Given the description of an element on the screen output the (x, y) to click on. 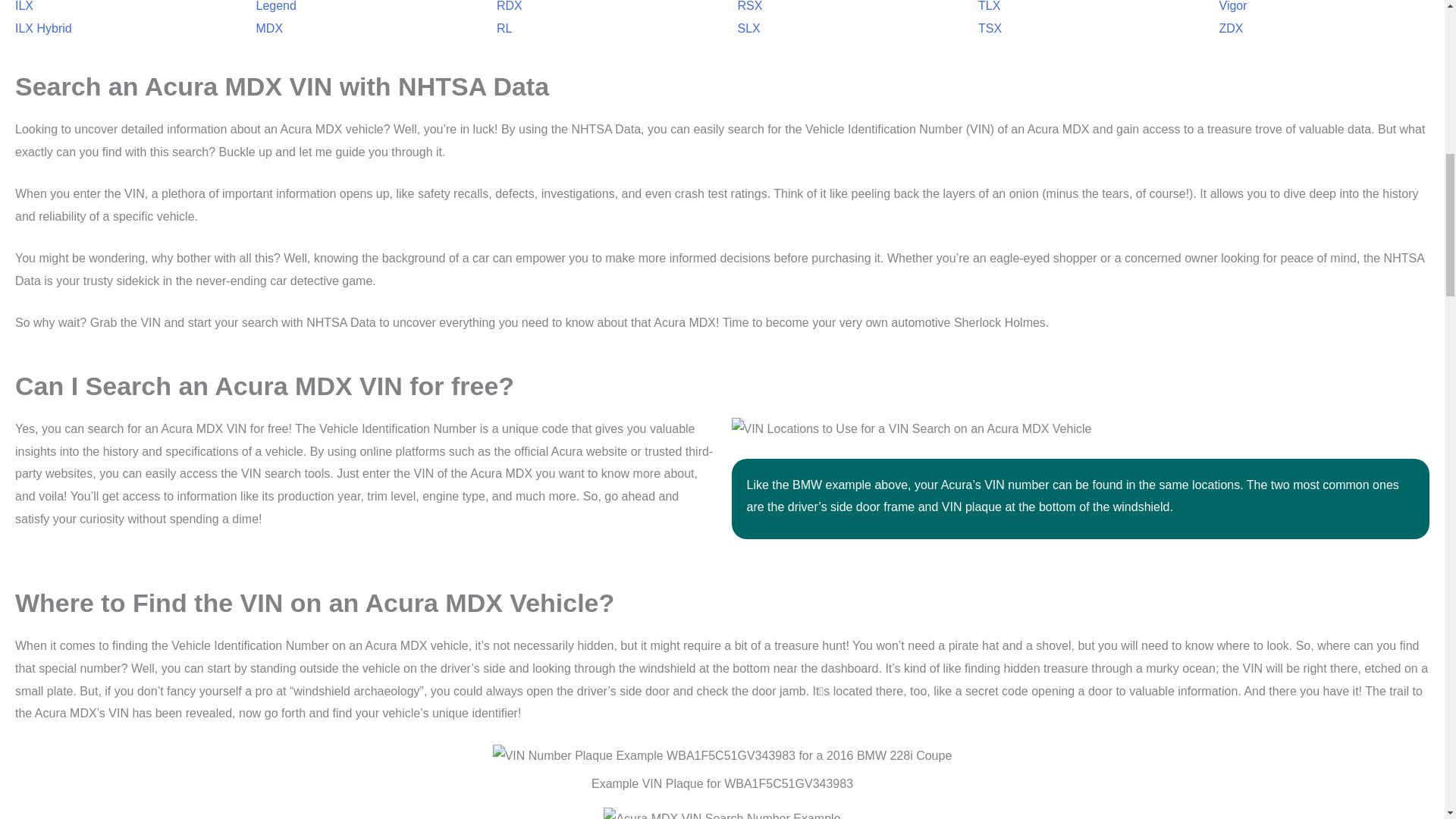
RL (504, 28)
MDX (269, 28)
TSX (989, 28)
Vigor (1233, 6)
ZDX (1231, 28)
SLX (748, 28)
RDX (509, 6)
TLX (989, 6)
Legend (276, 6)
ILX Hybrid (42, 28)
